Given the description of an element on the screen output the (x, y) to click on. 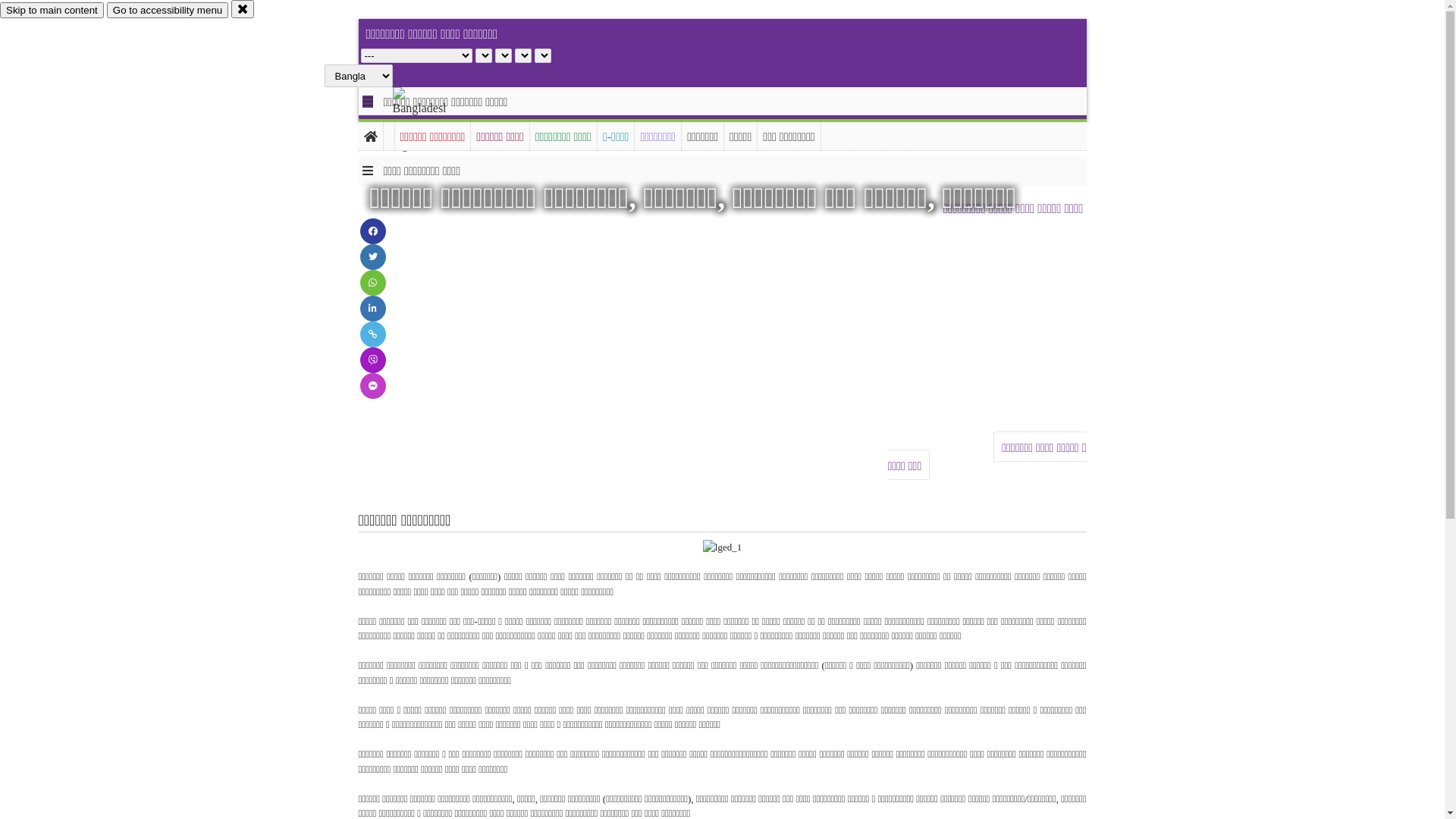
close Element type: hover (242, 9)
Skip to main content Element type: text (51, 10)

                
             Element type: hover (431, 120)
Go to accessibility menu Element type: text (167, 10)
